Given the description of an element on the screen output the (x, y) to click on. 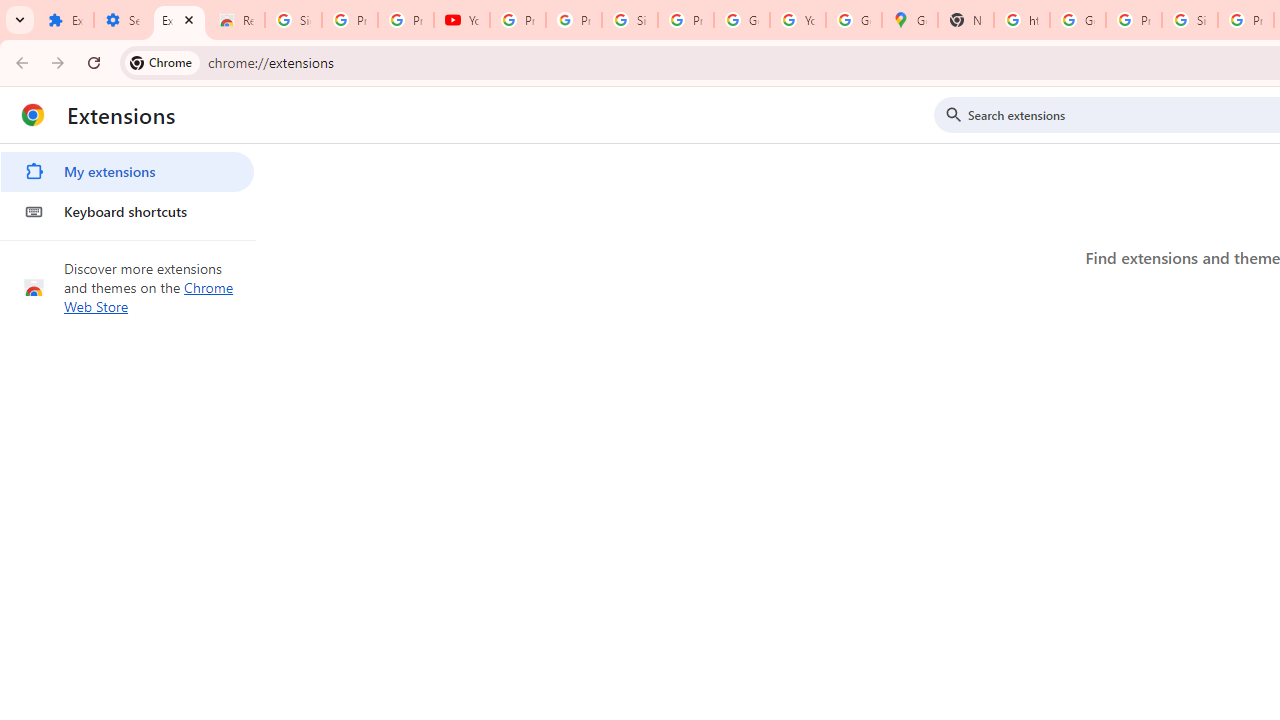
AutomationID: sectionMenu (128, 187)
Chrome Web Store (149, 296)
My extensions (127, 171)
Sign in - Google Accounts (629, 20)
Extensions (179, 20)
YouTube (461, 20)
New Tab (966, 20)
https://scholar.google.com/ (1021, 20)
